Given the description of an element on the screen output the (x, y) to click on. 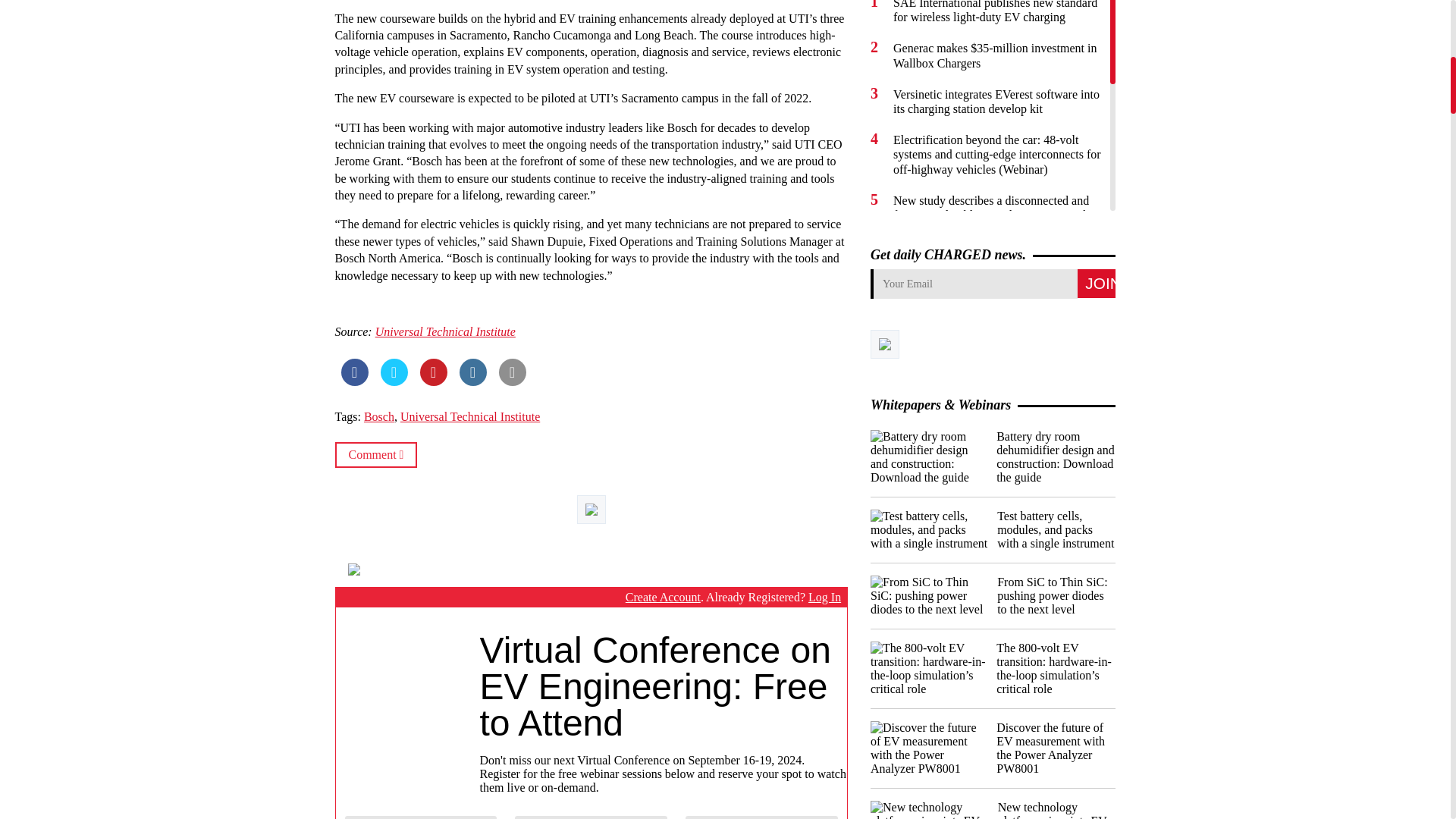
Join (1096, 283)
Charged EVs (404, 570)
